Given the description of an element on the screen output the (x, y) to click on. 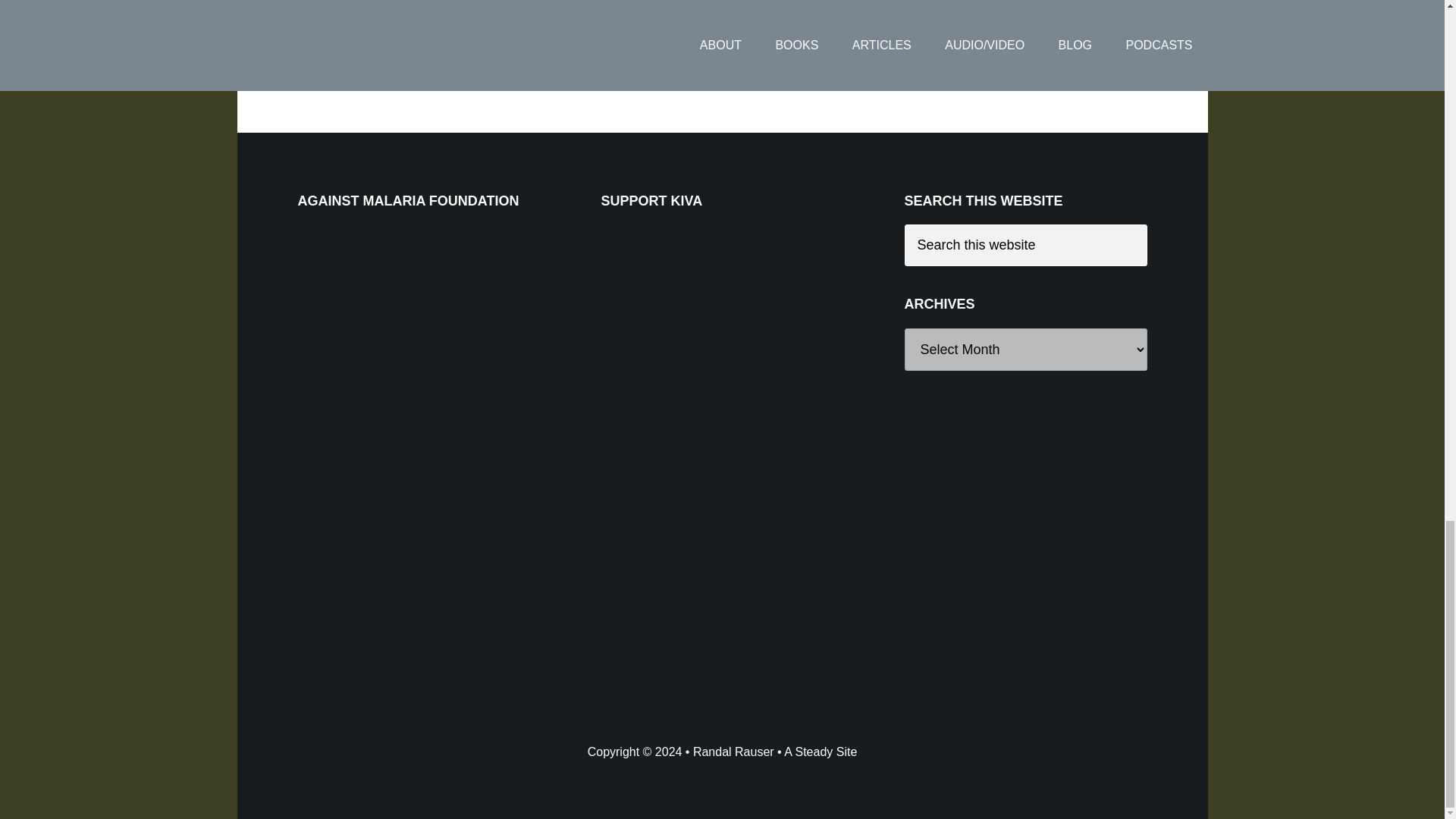
Matt Mikalatos (545, 61)
Imaginary Jesus (456, 61)
humor (387, 61)
review (609, 61)
Against Malaria Foundation (410, 338)
The Tentative Apologist (429, 42)
A Steady Site (820, 751)
Support Kiva (713, 338)
